Given the description of an element on the screen output the (x, y) to click on. 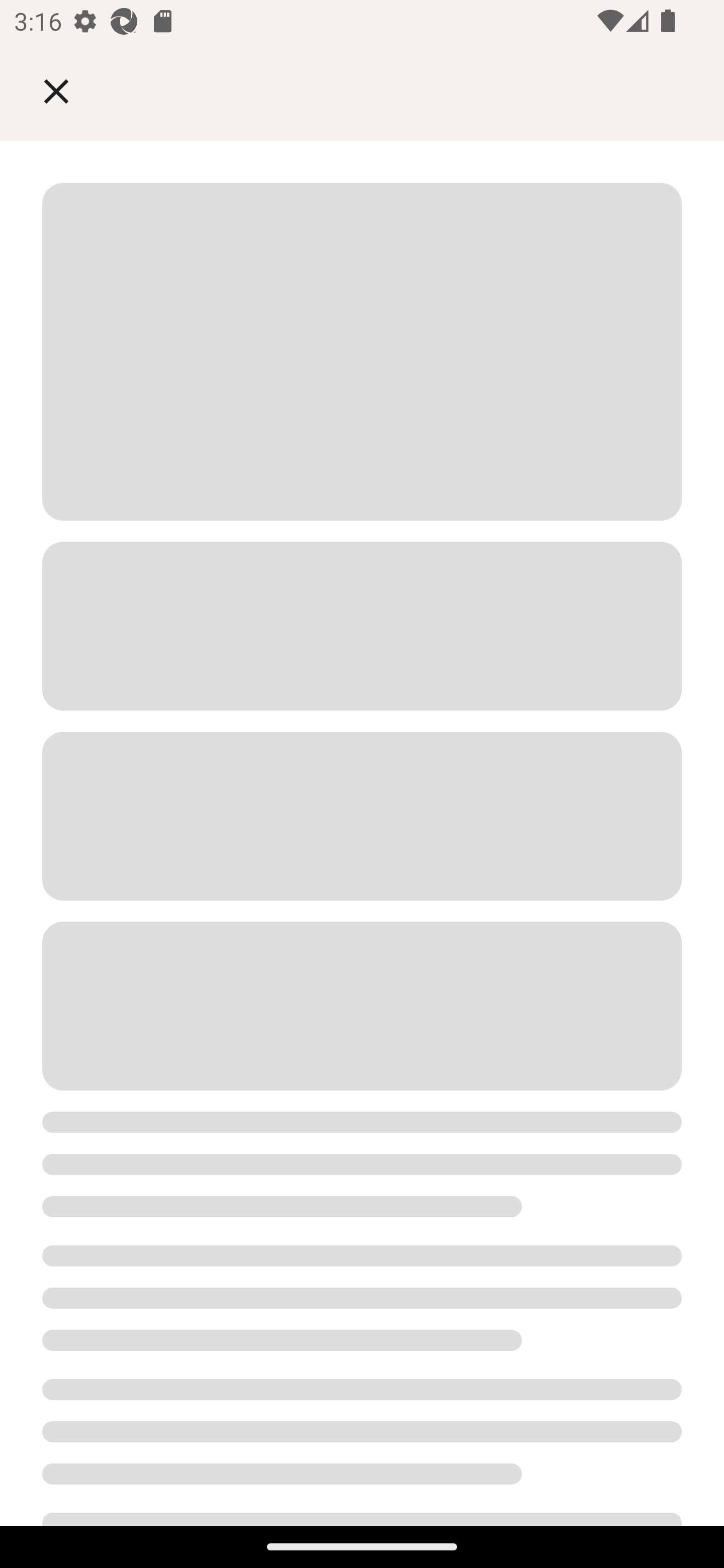
 (70, 90)
